Given the description of an element on the screen output the (x, y) to click on. 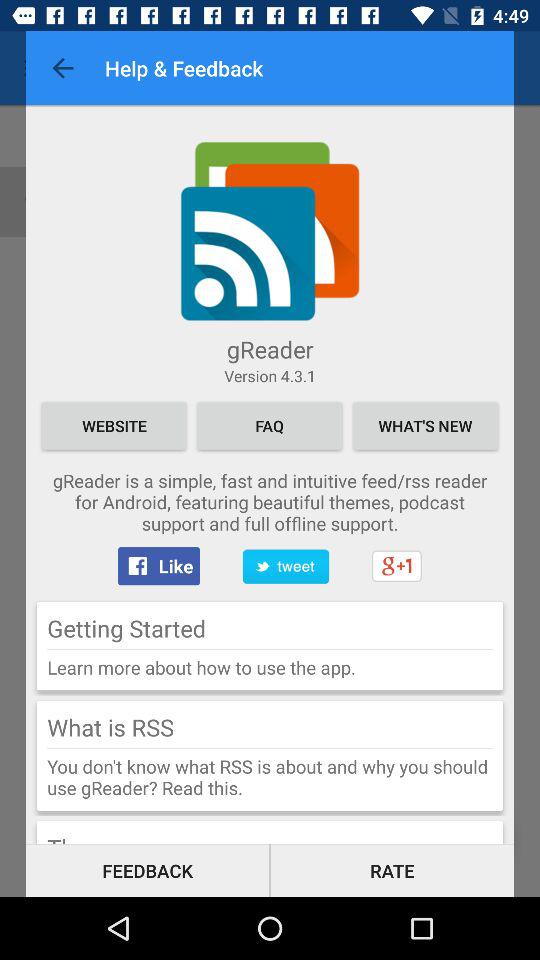
click item next to the like (285, 566)
